Given the description of an element on the screen output the (x, y) to click on. 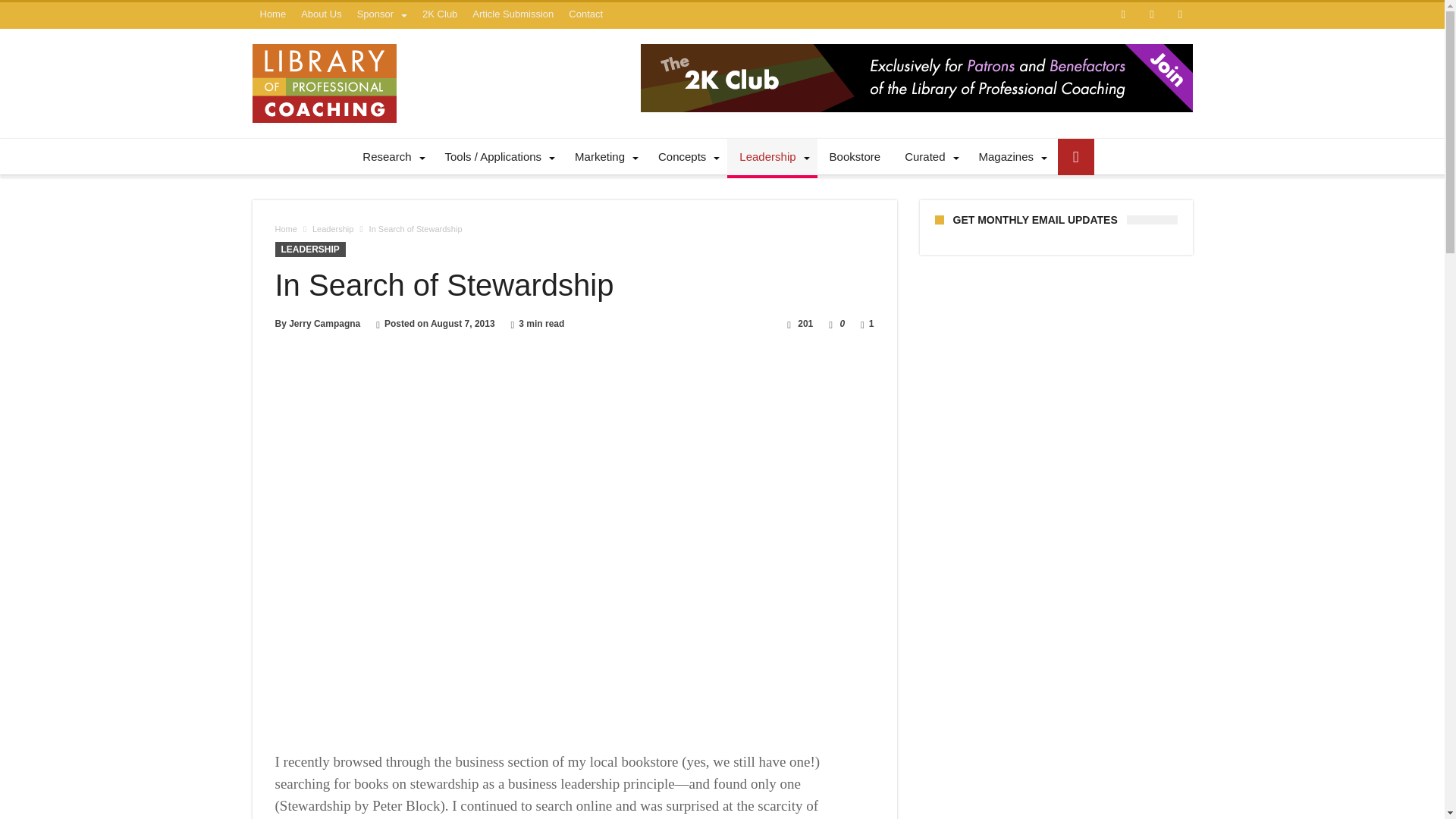
Sponsor (381, 14)
Article Submission (512, 14)
Twitter (1151, 15)
Facebook (1122, 15)
I like this article (830, 323)
About Us (321, 14)
Home (272, 14)
2K Club (439, 14)
Research (391, 156)
Library of Professional Coaching (323, 43)
Rss (1179, 15)
Contact (585, 14)
